Given the description of an element on the screen output the (x, y) to click on. 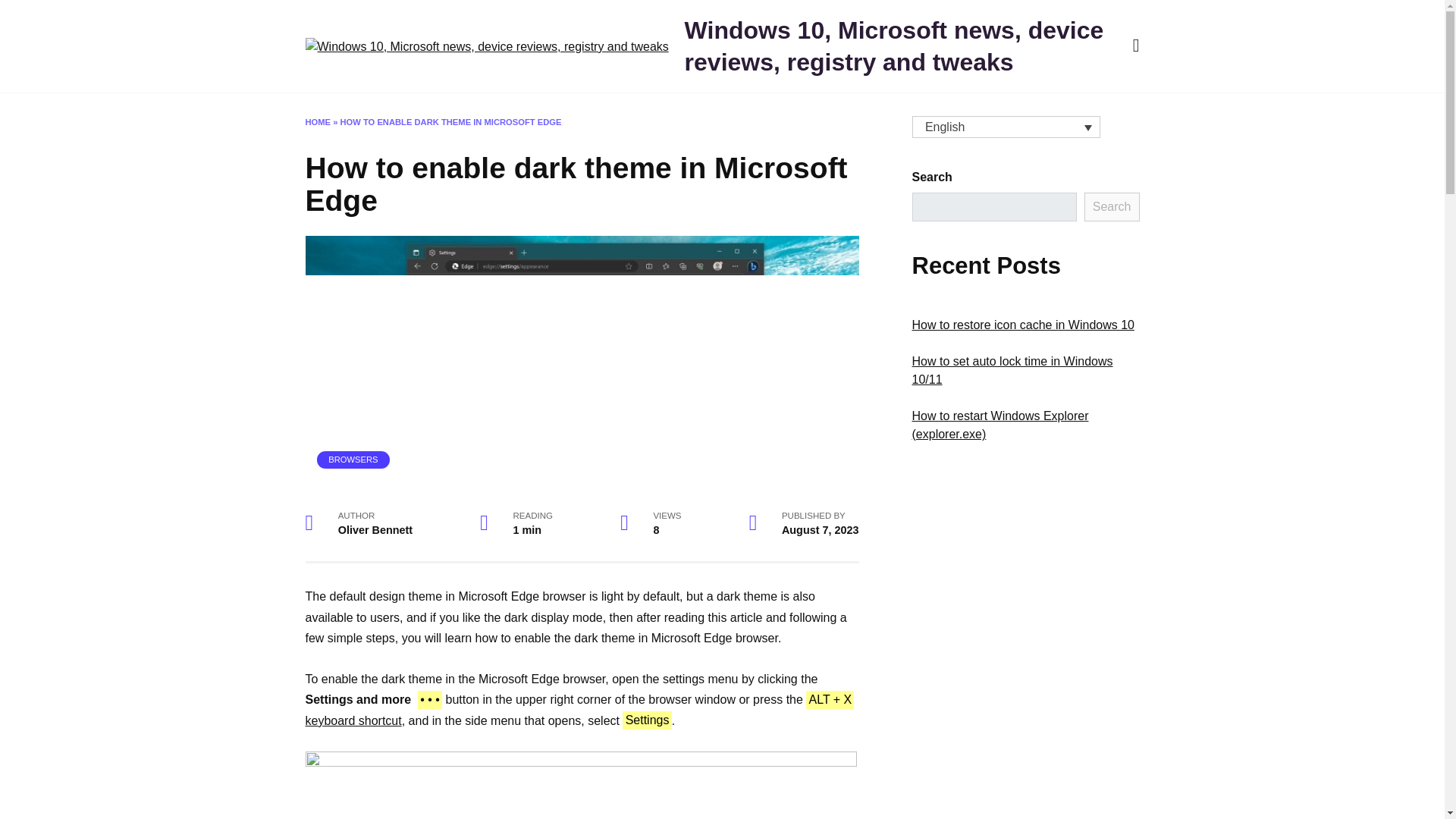
How to restore icon cache in Windows 10 (1022, 324)
English (1005, 127)
HOME (317, 121)
BROWSERS (353, 459)
Search (1112, 206)
keyboard shortcut (352, 720)
